Given the description of an element on the screen output the (x, y) to click on. 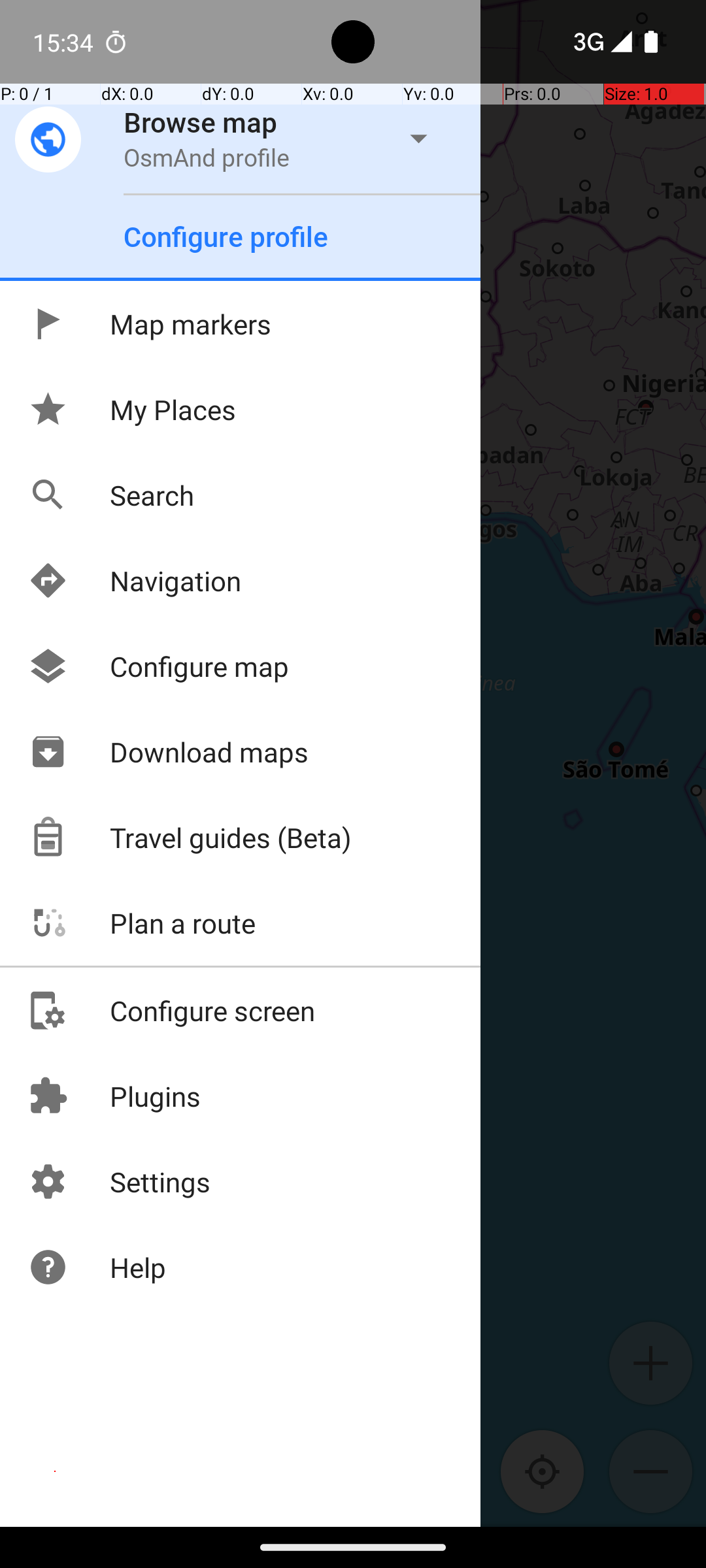
OsmAnd profile Element type: android.widget.TextView (206, 156)
Configure profile Element type: android.widget.TextView (225, 235)
My Places Element type: android.widget.TextView (131, 409)
Navigation Element type: android.widget.TextView (134, 580)
Download maps Element type: android.widget.TextView (168, 751)
Travel guides (Beta) Element type: android.widget.TextView (189, 837)
Plan a route Element type: android.widget.TextView (141, 922)
Configure screen Element type: android.widget.TextView (171, 1010)
Plugins Element type: android.widget.TextView (114, 1095)
